Given the description of an element on the screen output the (x, y) to click on. 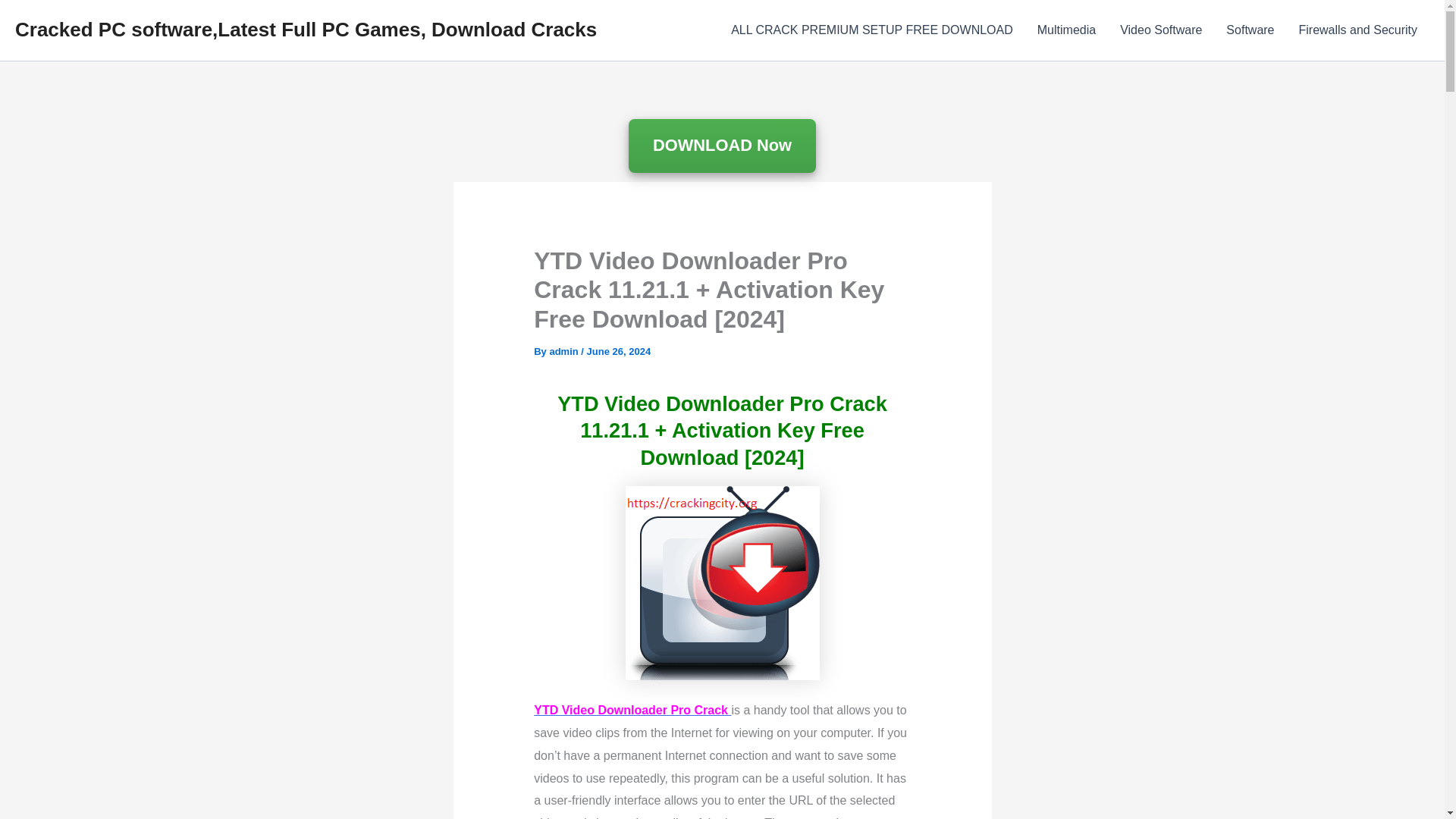
Video Software (1161, 30)
View all posts by admin (564, 351)
YTD Video Downloader Pro Crack (632, 709)
Firewalls and Security (1357, 30)
ALL CRACK PREMIUM SETUP FREE DOWNLOAD (872, 30)
DOWNLOAD Now (721, 146)
admin (564, 351)
Multimedia (1066, 30)
YTD Video Downloader Pro Crack (721, 583)
Software (1249, 30)
